Given the description of an element on the screen output the (x, y) to click on. 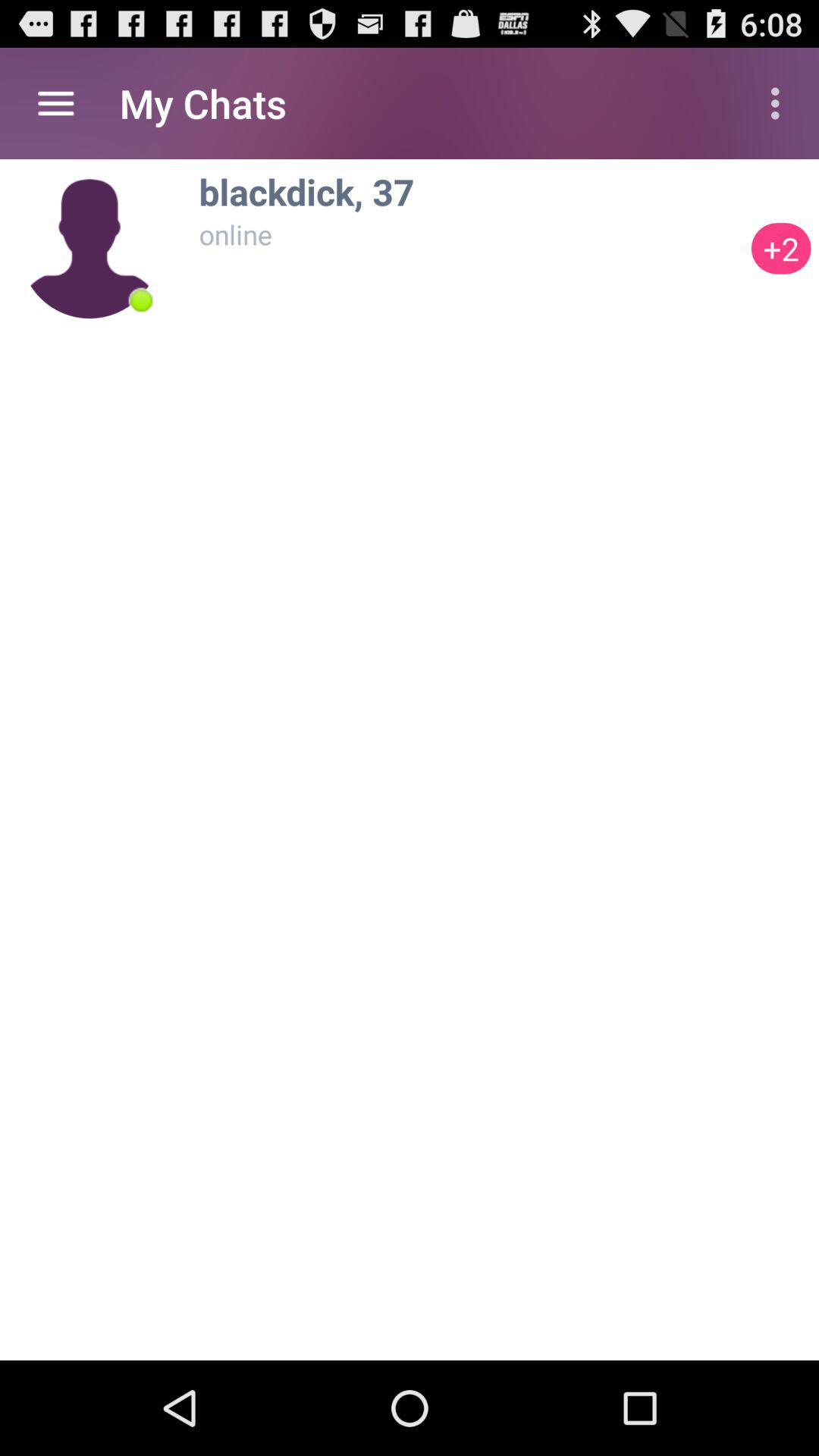
choose +2 app (781, 248)
